Given the description of an element on the screen output the (x, y) to click on. 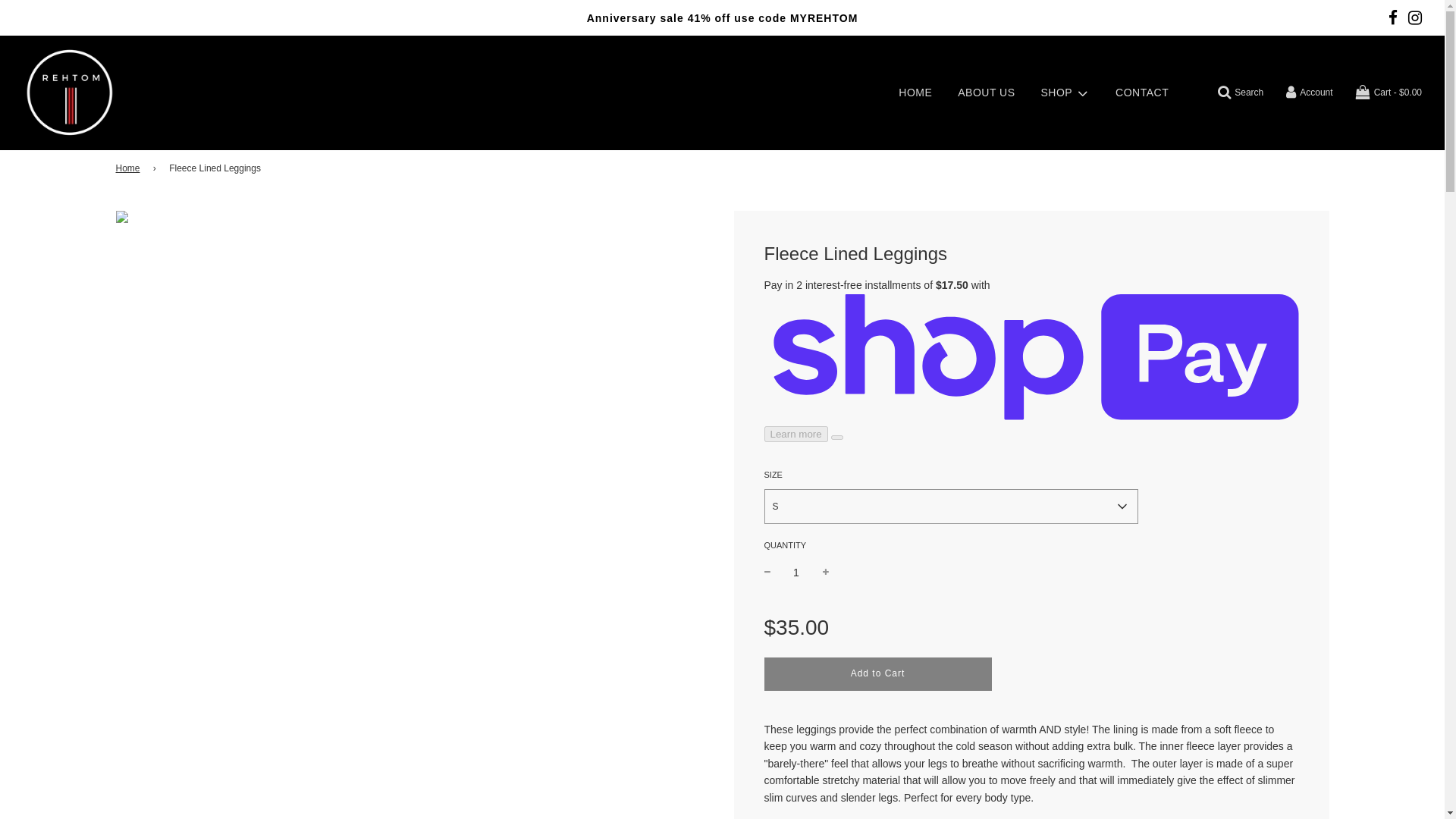
SHOP (1064, 92)
Back to the frontpage (129, 168)
HOME (914, 92)
Account (1308, 92)
CONTACT (1141, 92)
S (951, 506)
1 (796, 572)
Home (129, 168)
Log in (1308, 92)
Search (1240, 92)
